Given the description of an element on the screen output the (x, y) to click on. 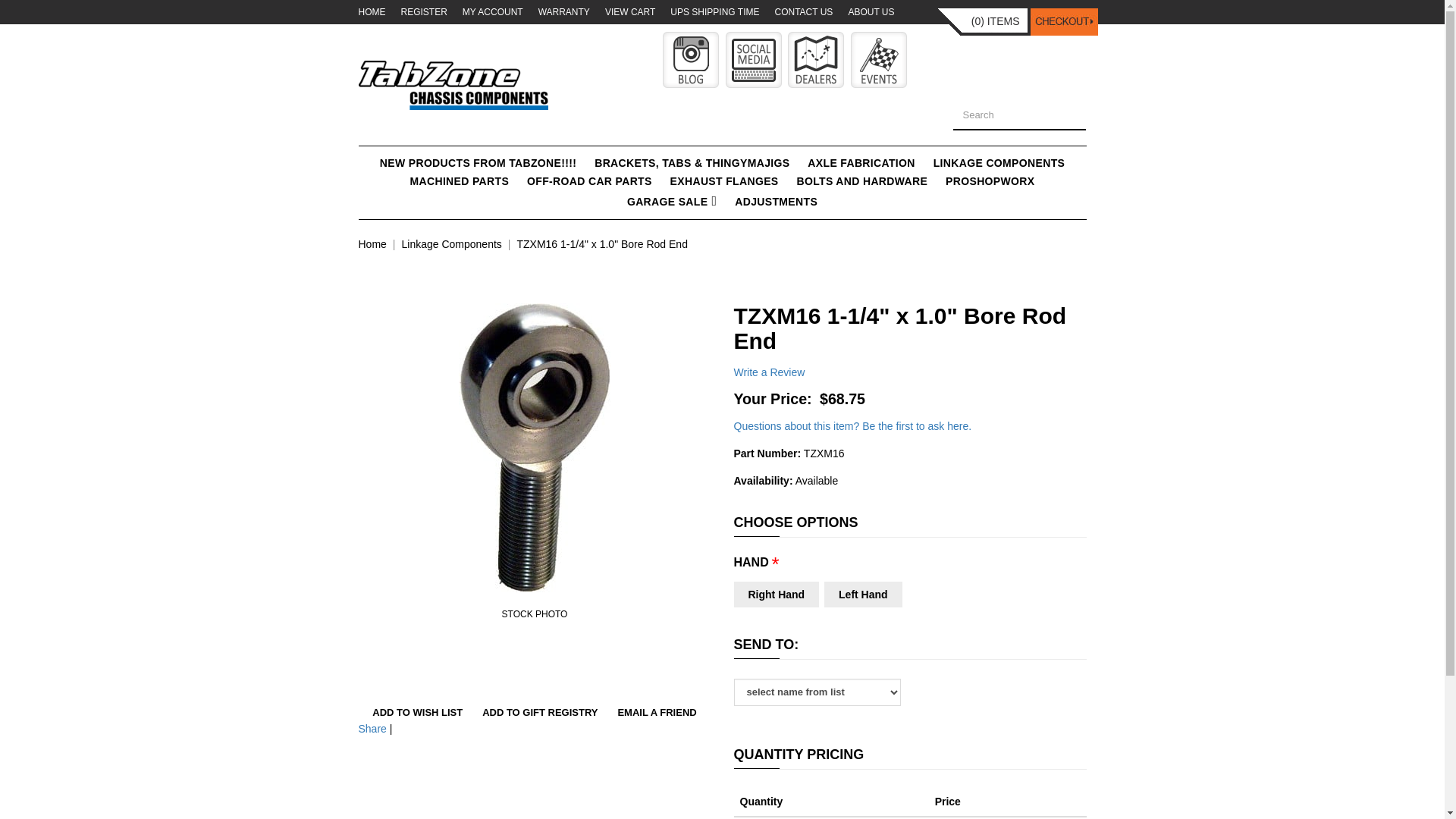
WARRANTY (563, 11)
GARAGE SALE (671, 200)
Right Hand (776, 594)
AXLE FABRICATION (860, 162)
BOLTS AND HARDWARE (861, 180)
REGISTER (423, 11)
NEW PRODUCTS FROM TABZONE!!!! (478, 162)
LINKAGE COMPONENTS (999, 162)
STOCK PHOTO  (534, 613)
STOCK PHOTO  (534, 447)
MACHINED PARTS (458, 180)
UPS SHIPPING TIME (713, 11)
PROSHOPWORX (989, 180)
VIEW CART (630, 11)
ADD TO WISH LIST (417, 713)
